Given the description of an element on the screen output the (x, y) to click on. 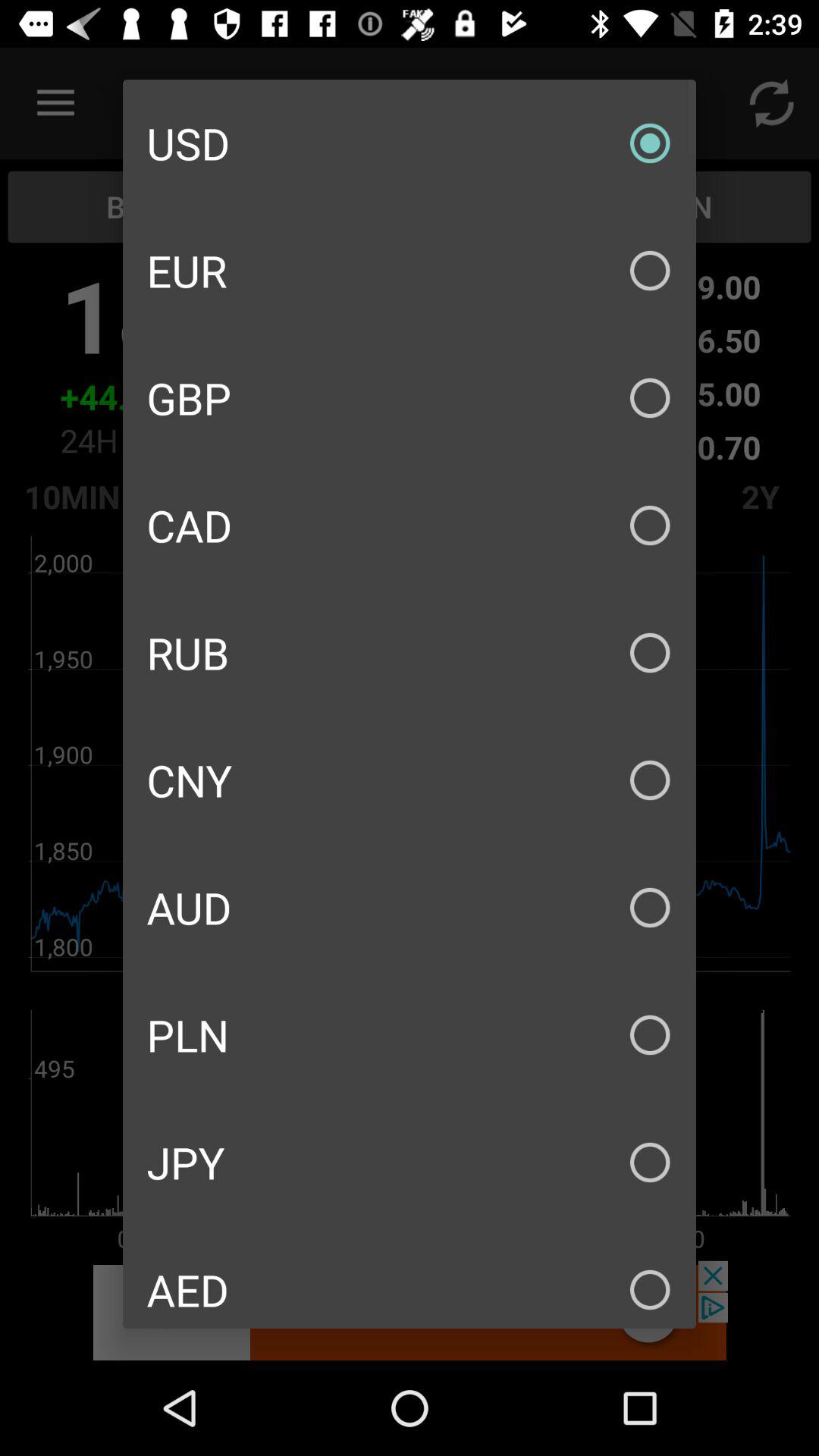
choose icon below gbp (409, 525)
